Given the description of an element on the screen output the (x, y) to click on. 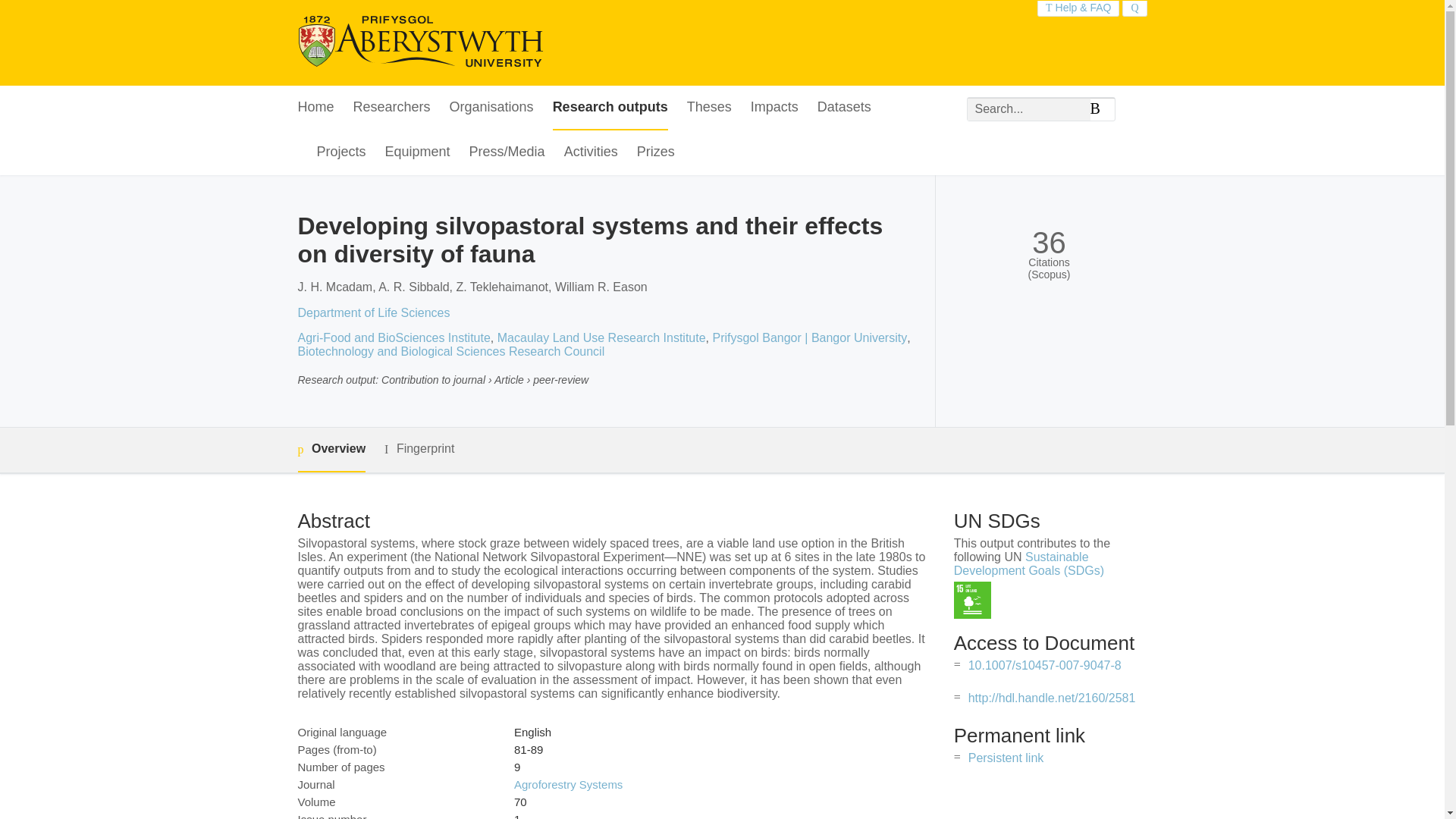
Theses (709, 107)
Fingerprint (419, 448)
Agroforestry Systems (568, 784)
Datasets (843, 107)
Research outputs (610, 107)
Projects (341, 152)
Macaulay Land Use Research Institute (601, 337)
Agri-Food and BioSciences Institute (393, 337)
Biotechnology and Biological Sciences Research Council (450, 350)
Organisations (491, 107)
